Given the description of an element on the screen output the (x, y) to click on. 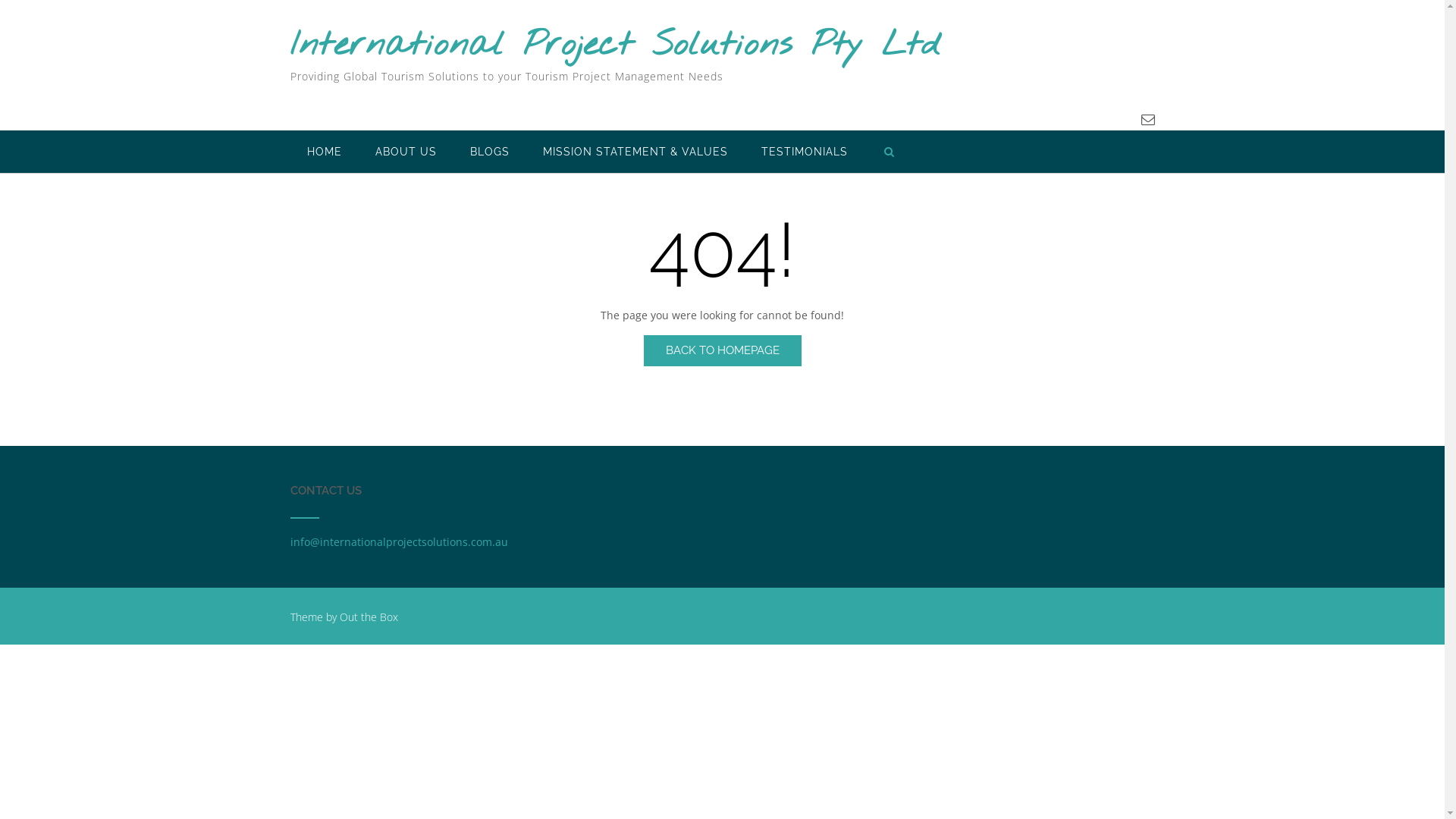
TESTIMONIALS Element type: text (804, 151)
International Project Solutions Pty Ltd Element type: text (614, 45)
BACK TO HOMEPAGE Element type: text (721, 350)
HOME Element type: text (323, 151)
Out the Box Element type: text (368, 616)
info@internationalprojectsolutions.com.au Element type: text (398, 541)
BLOGS Element type: text (489, 151)
MISSION STATEMENT & VALUES Element type: text (635, 151)
Send us an email Element type: hover (1147, 118)
ABOUT US Element type: text (404, 151)
